Given the description of an element on the screen output the (x, y) to click on. 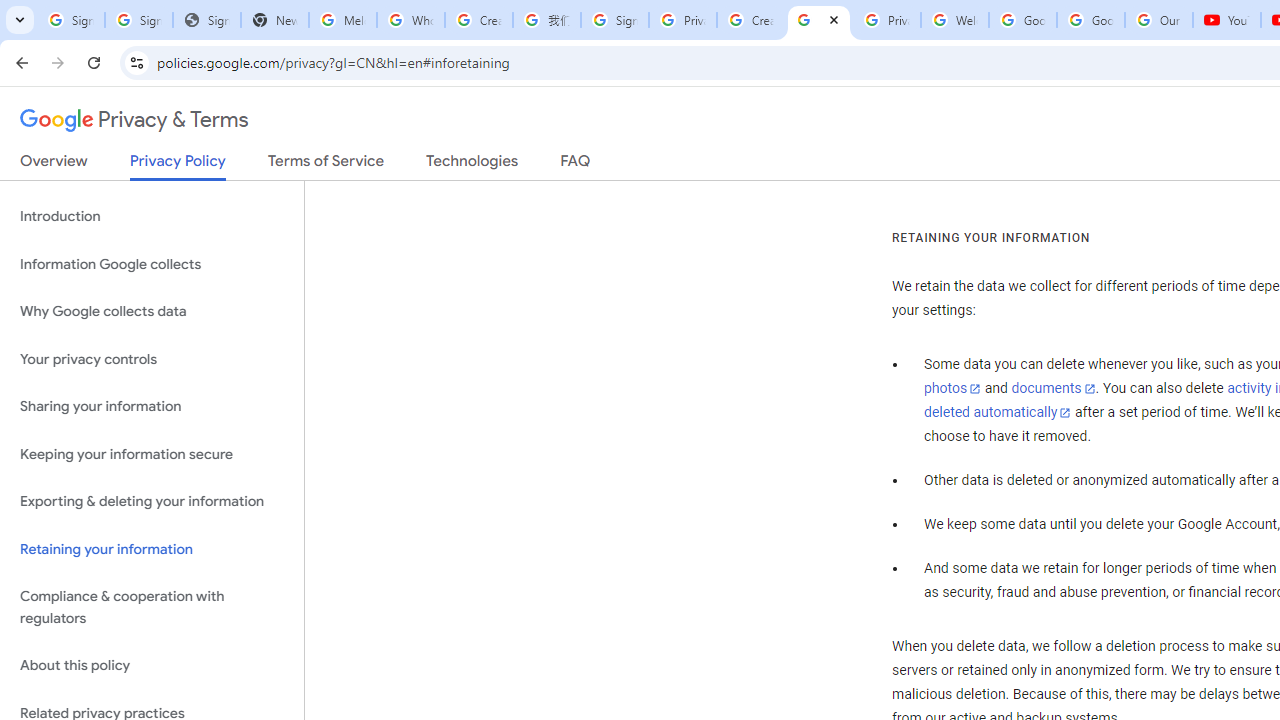
Sign in - Google Accounts (138, 20)
Welcome to My Activity (954, 20)
documents (1053, 389)
